Given the description of an element on the screen output the (x, y) to click on. 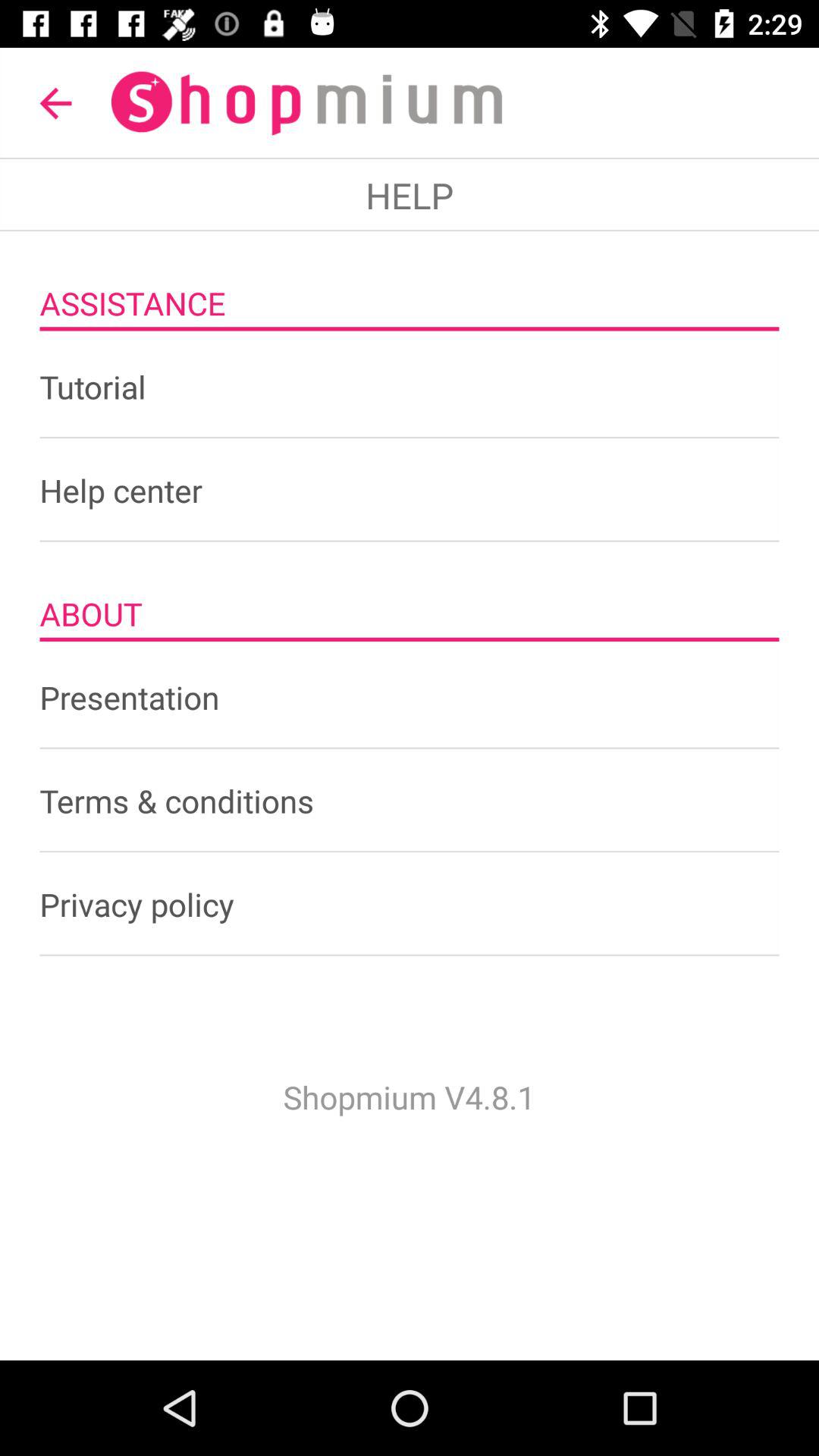
launch the item below the about item (409, 697)
